Given the description of an element on the screen output the (x, y) to click on. 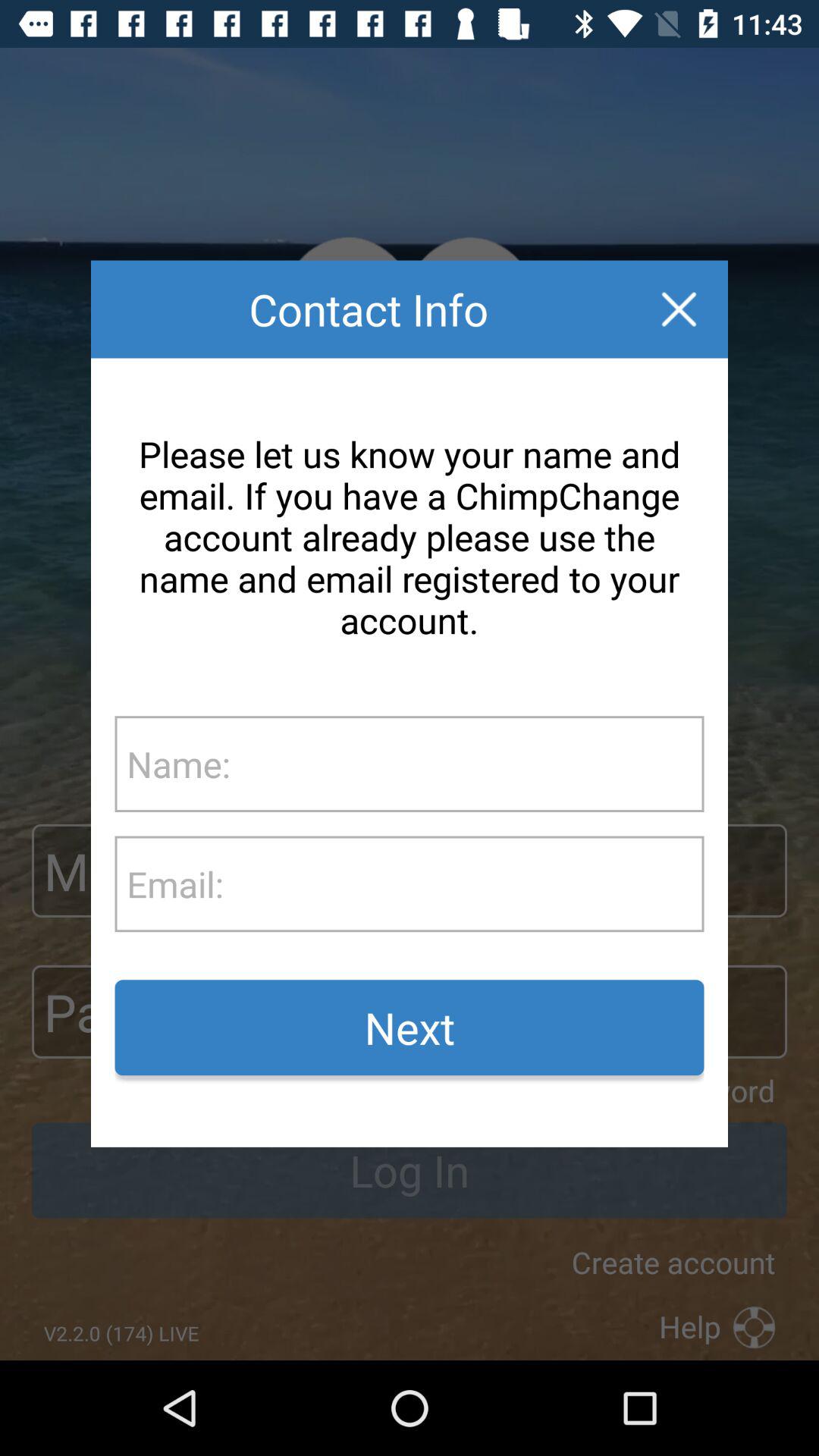
email address (463, 884)
